Given the description of an element on the screen output the (x, y) to click on. 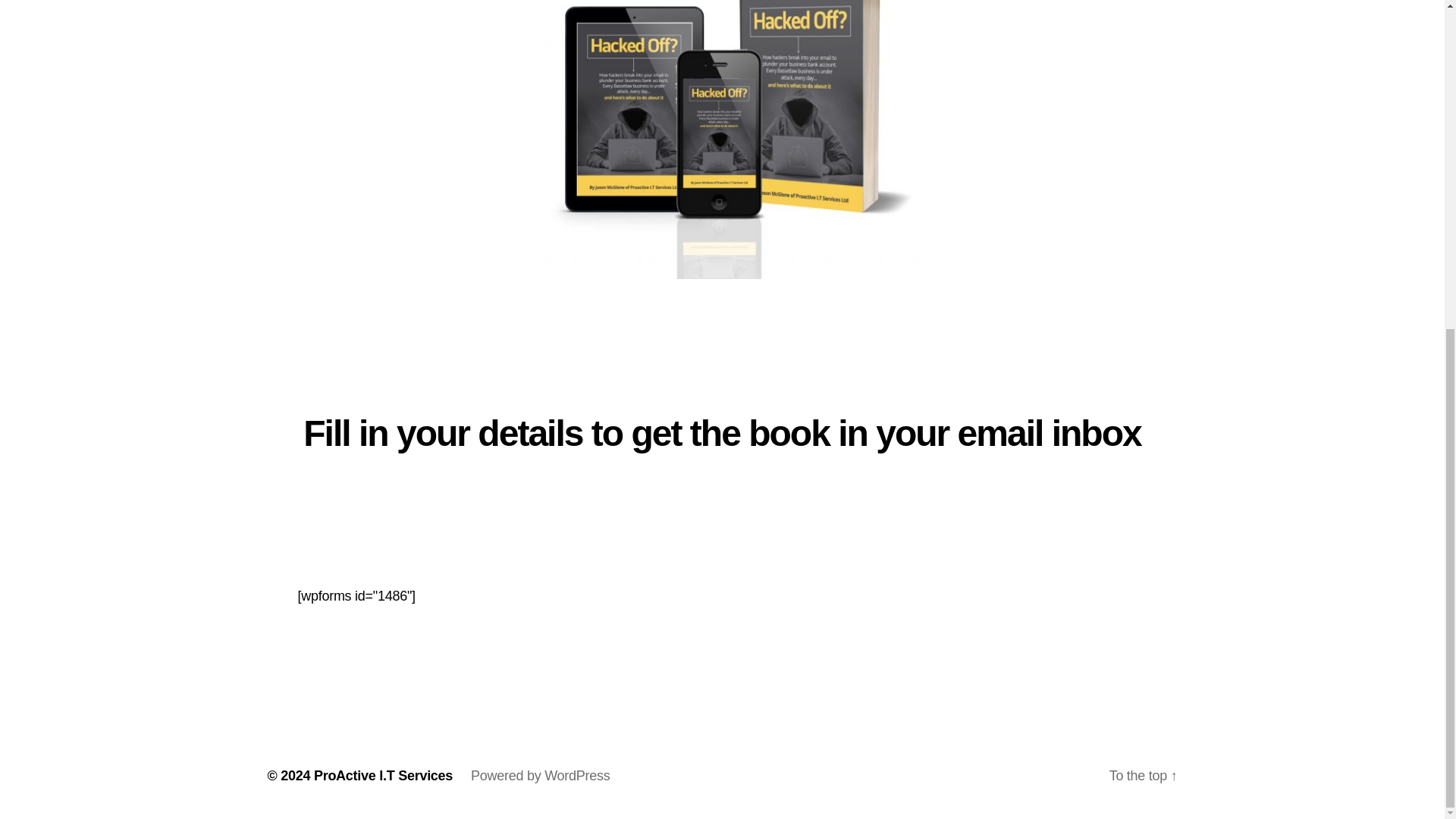
ProActive I.T Services (383, 775)
Powered by WordPress (540, 775)
